Given the description of an element on the screen output the (x, y) to click on. 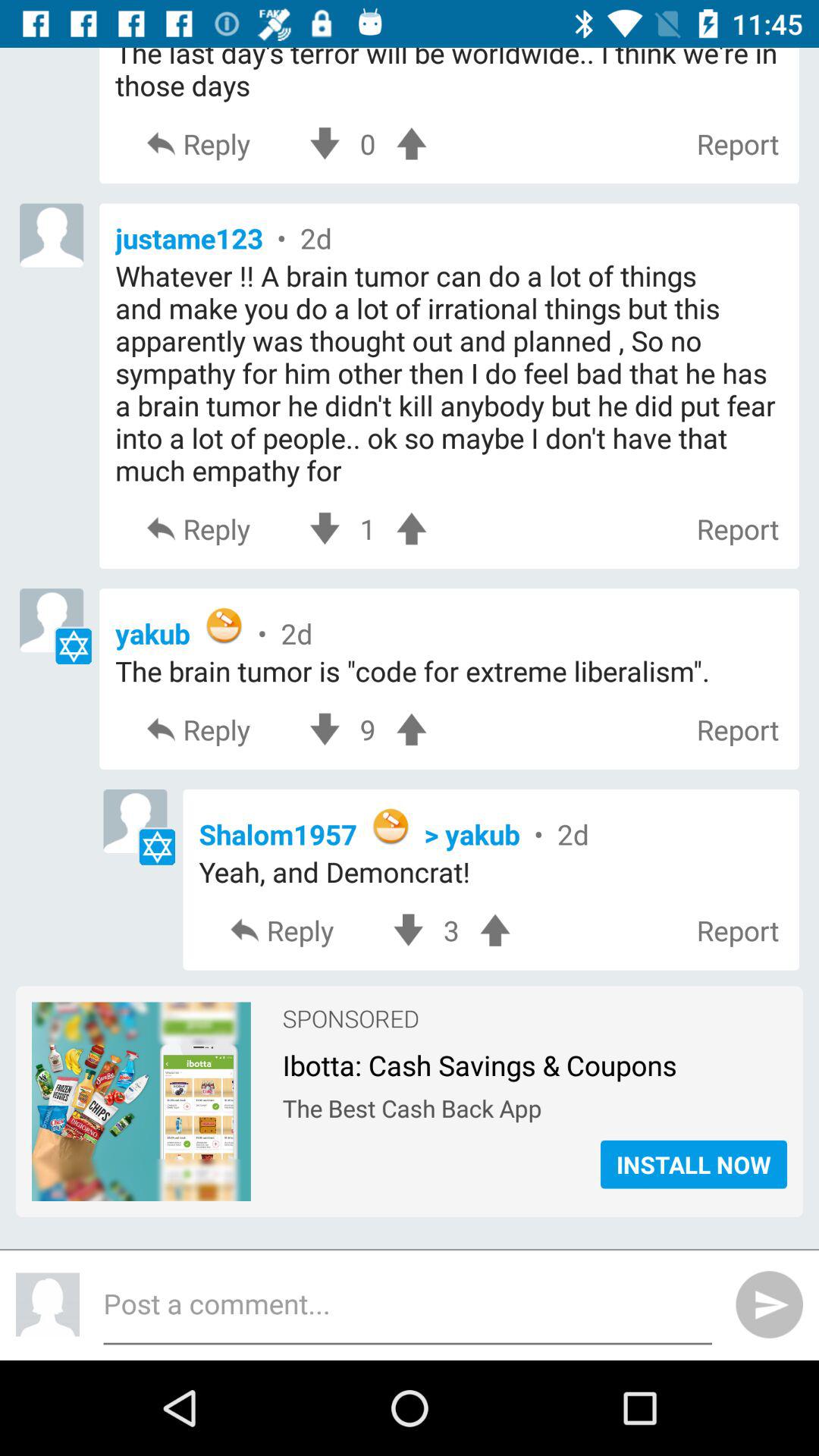
press the icon next to the sponsored (140, 1101)
